Given the description of an element on the screen output the (x, y) to click on. 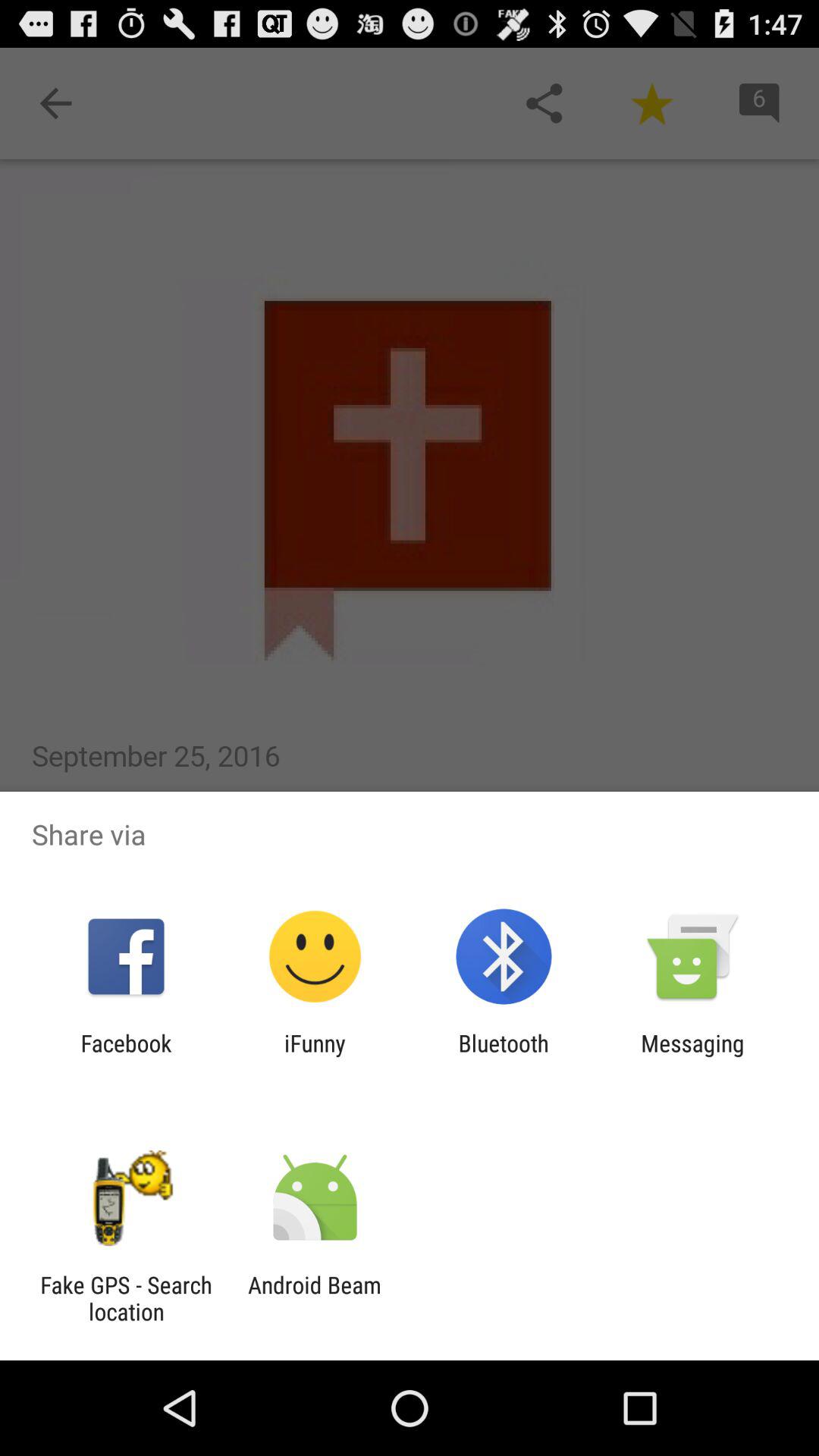
scroll until the fake gps search icon (125, 1298)
